Given the description of an element on the screen output the (x, y) to click on. 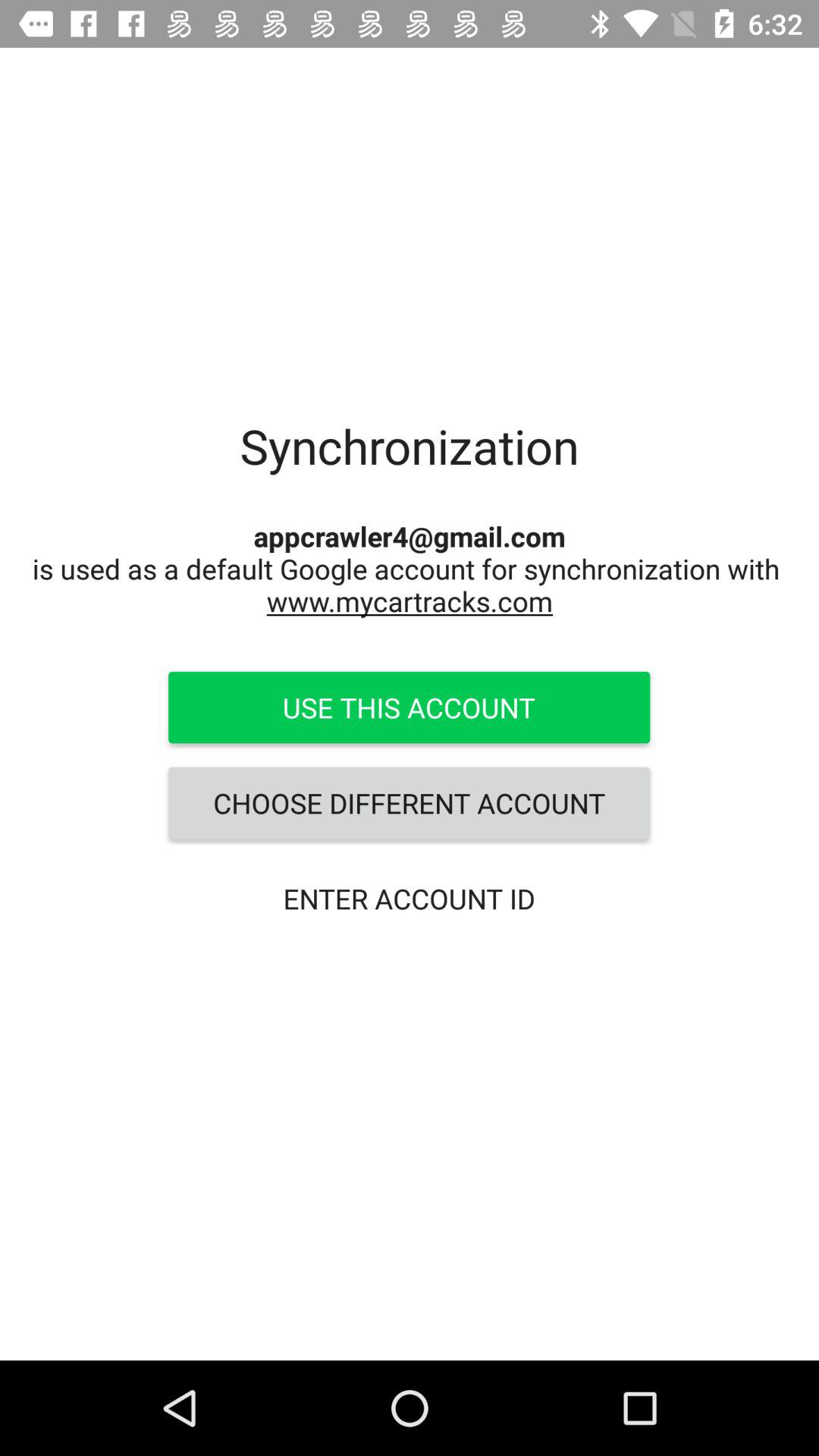
flip to enter account id item (409, 898)
